Given the description of an element on the screen output the (x, y) to click on. 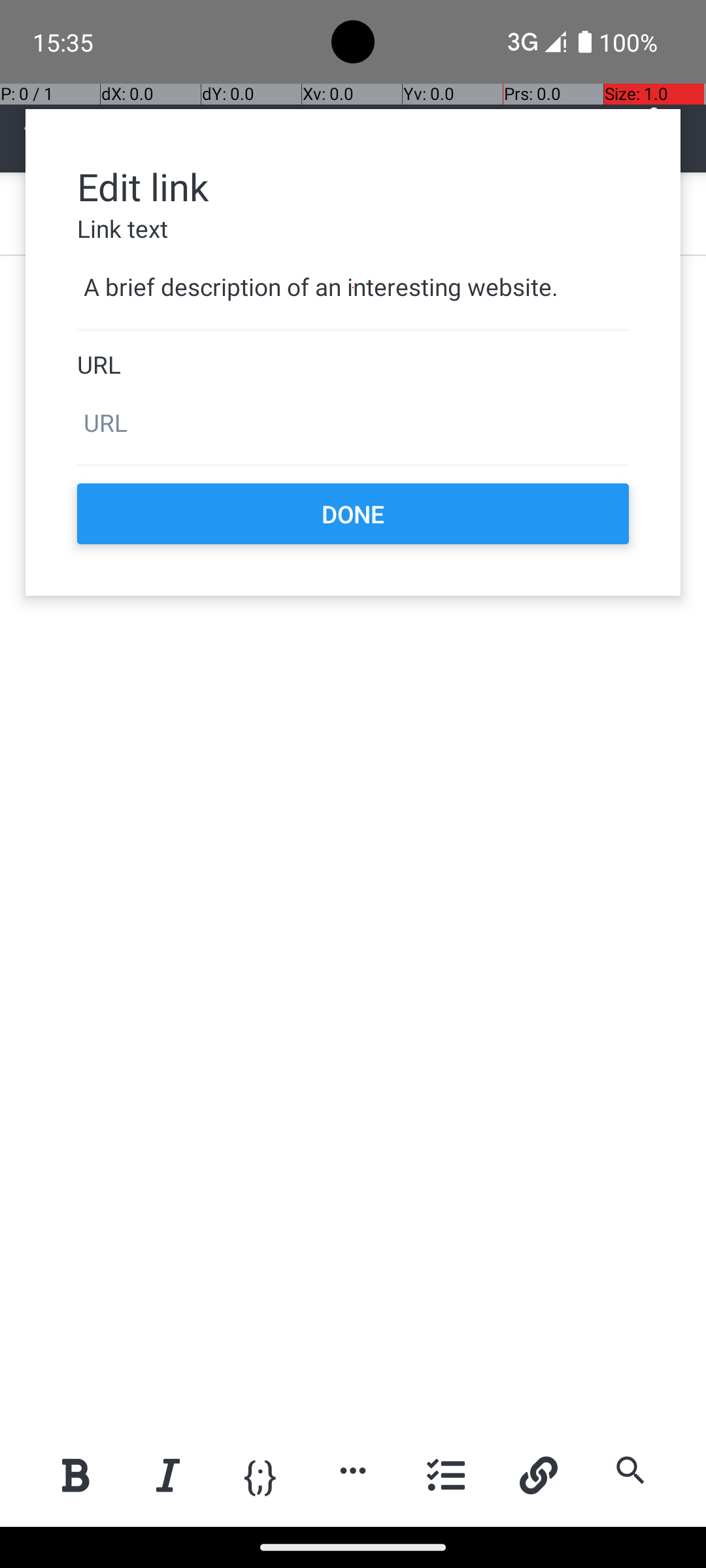
Edit link Element type: android.widget.TextView (352, 185)
Link text Element type: android.widget.TextView (352, 228)
A brief description of an interesting website. Element type: android.widget.EditText (352, 287)
URL Element type: android.widget.TextView (352, 363)
DONE Element type: android.widget.TextView (352, 513)
